Given the description of an element on the screen output the (x, y) to click on. 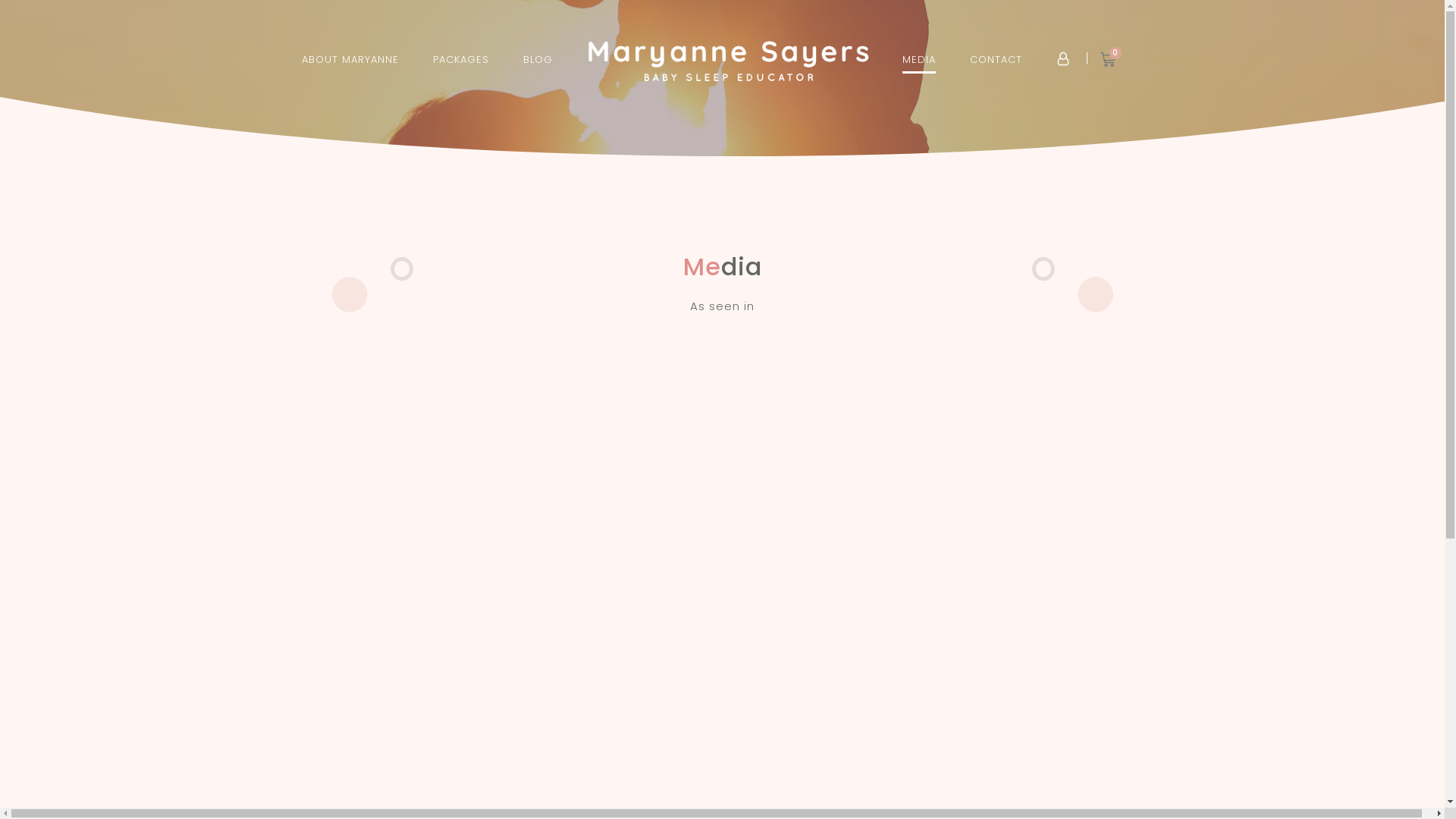
ABOUT MARYANNE Element type: text (349, 59)
0 Element type: text (1107, 59)
MEDIA Element type: text (918, 59)
PACKAGES Element type: text (461, 59)
CONTACT Element type: text (995, 59)
BLOG Element type: text (537, 59)
